Given the description of an element on the screen output the (x, y) to click on. 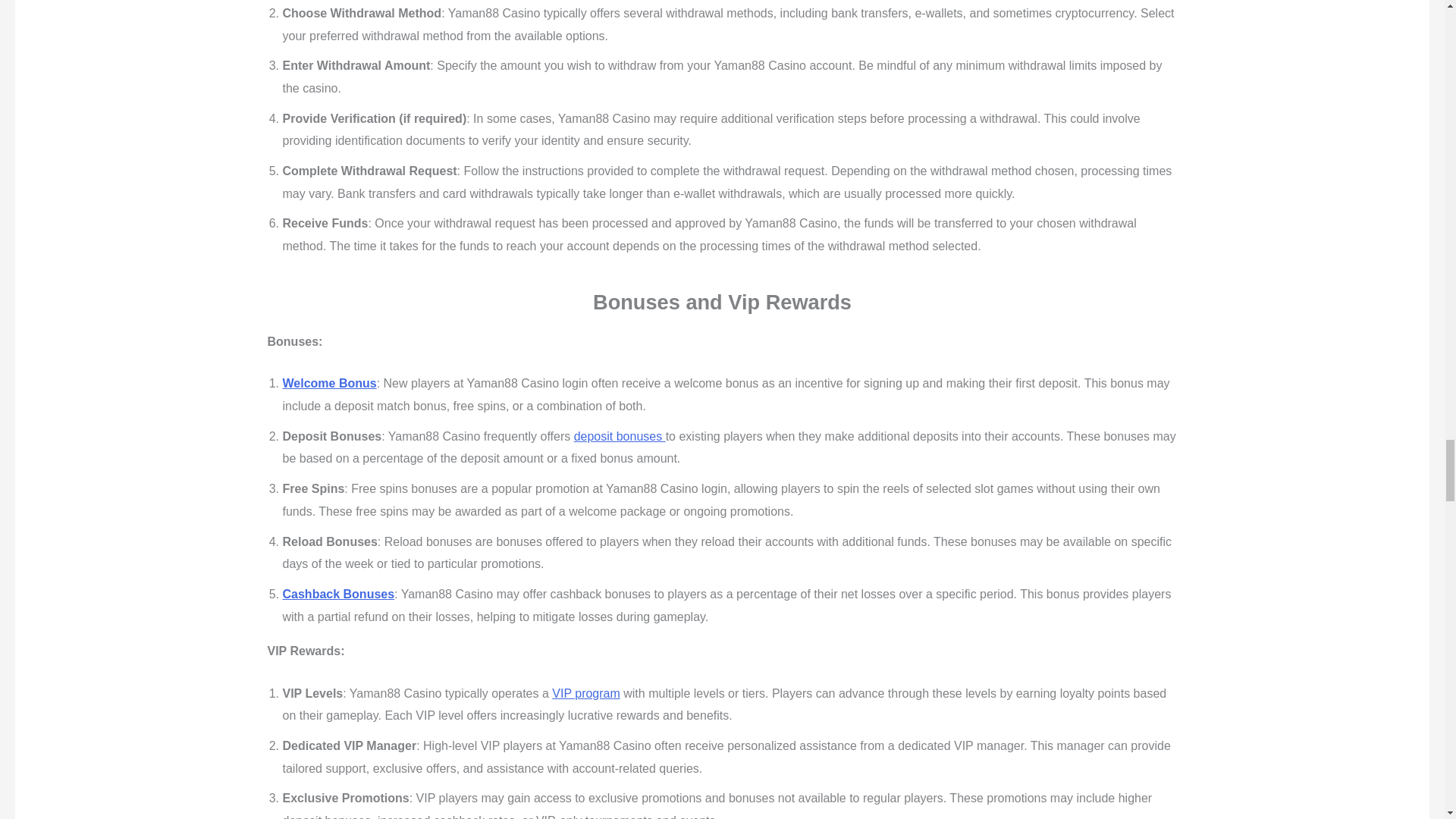
deposit bonuses (619, 436)
Cashback Bonuses (338, 594)
Welcome Bonus (328, 382)
